Given the description of an element on the screen output the (x, y) to click on. 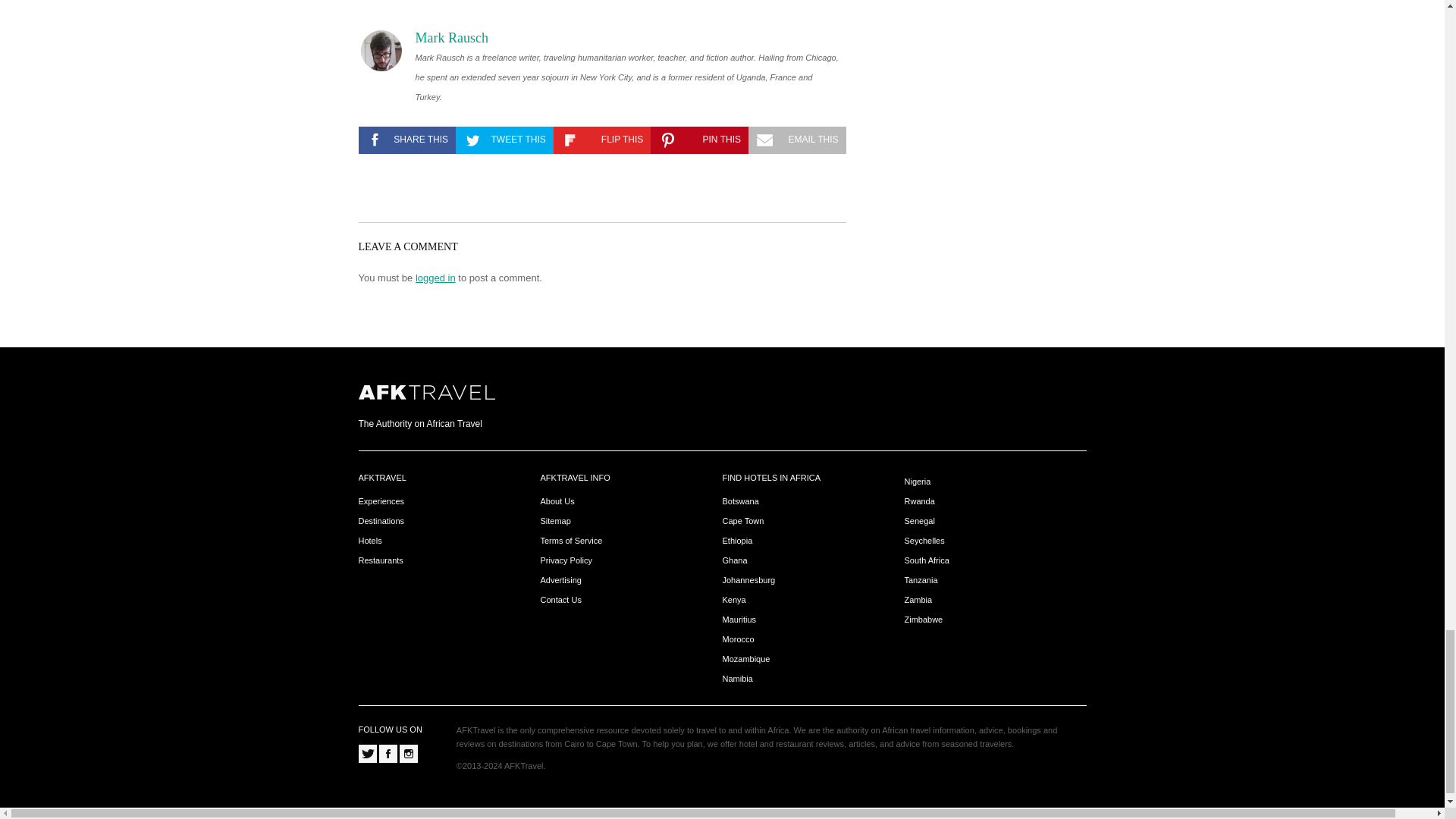
Mark Rausch (450, 37)
Restaurants (380, 560)
Hotels (369, 541)
Experiences (381, 501)
logged in (434, 277)
Destinations (381, 521)
